Given the description of an element on the screen output the (x, y) to click on. 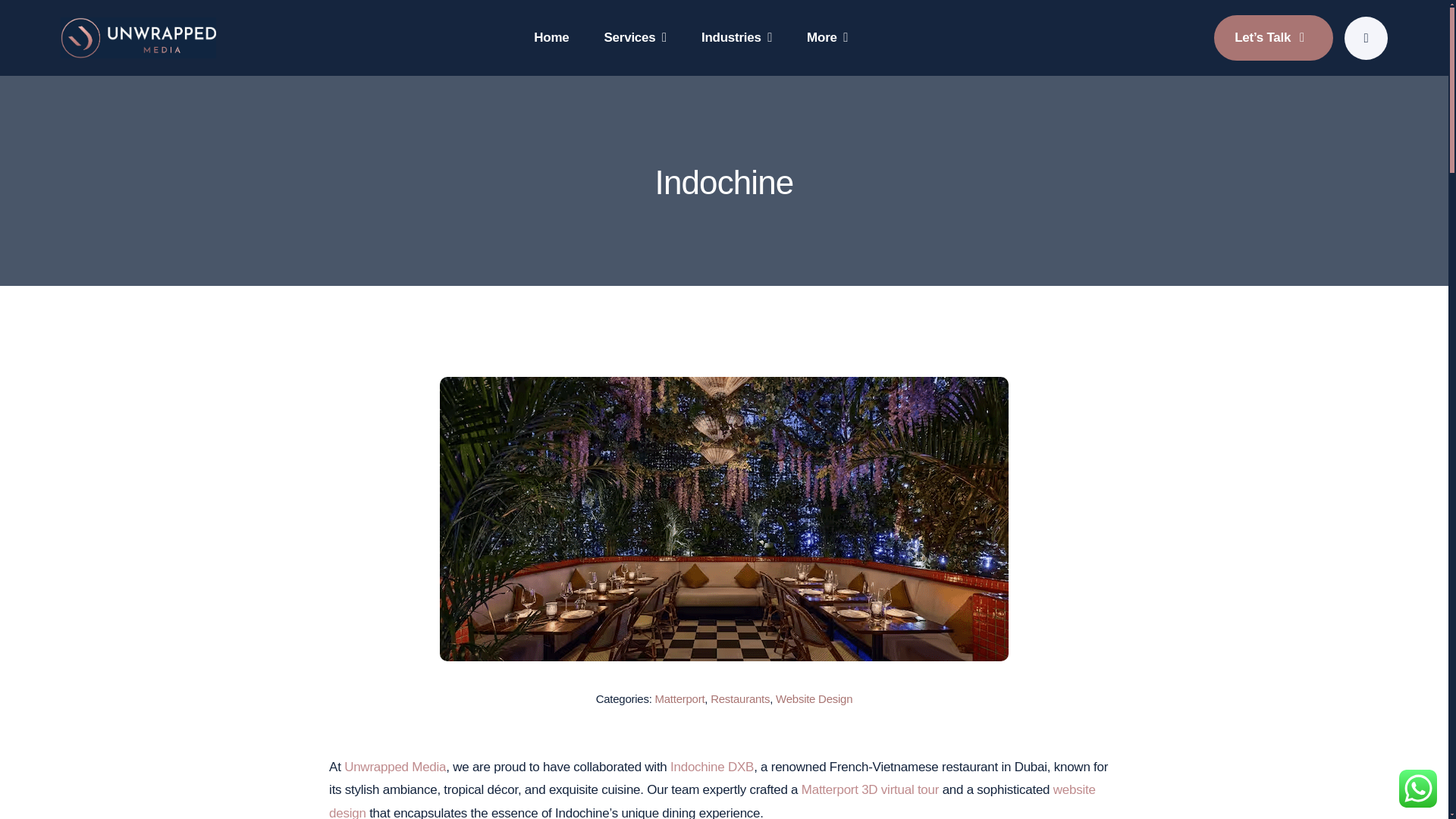
Services (635, 37)
Industries (736, 37)
Home (551, 37)
Indochine 1 (138, 37)
More (826, 37)
